Given the description of an element on the screen output the (x, y) to click on. 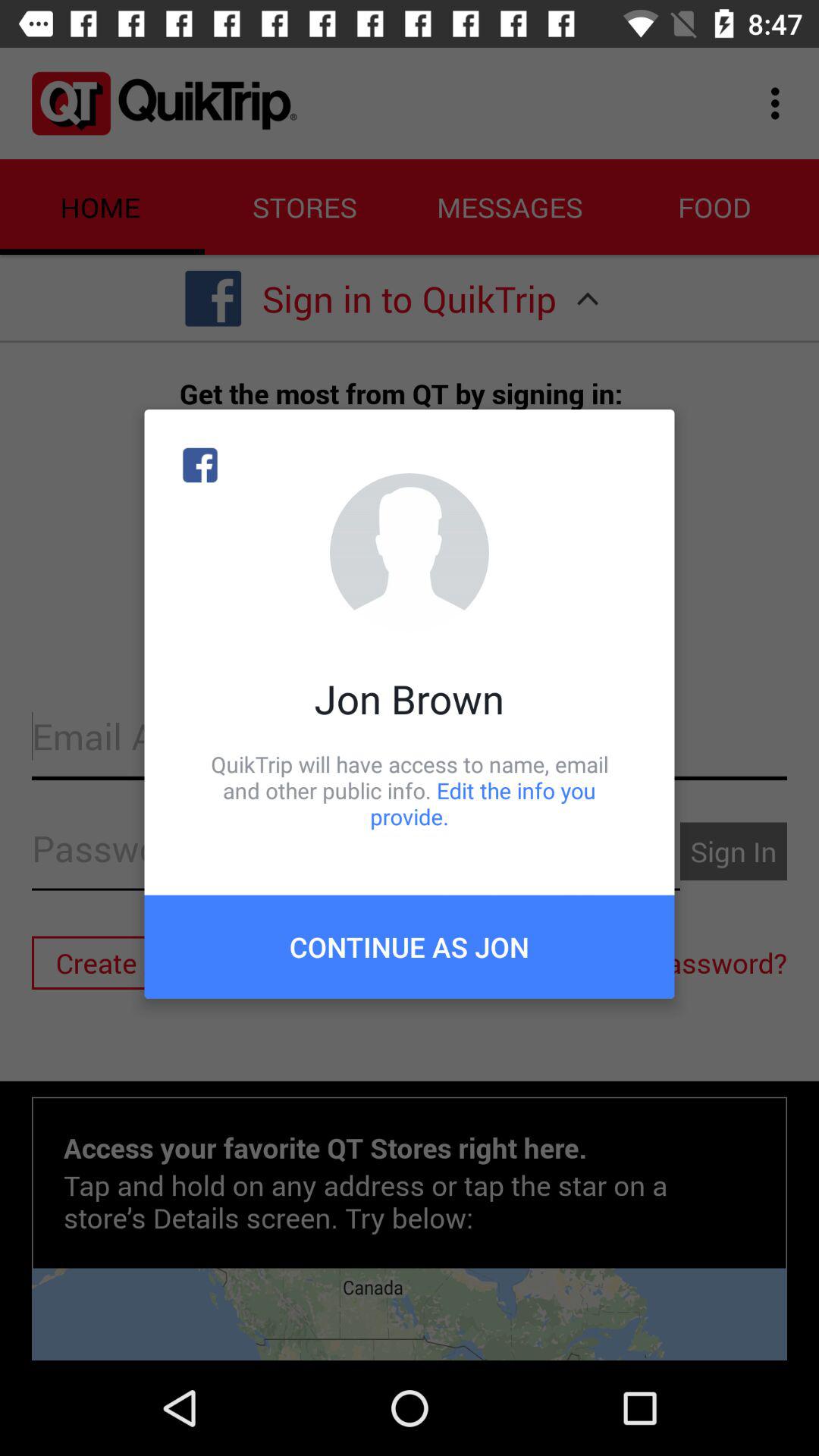
choose the quiktrip will have icon (409, 790)
